Given the description of an element on the screen output the (x, y) to click on. 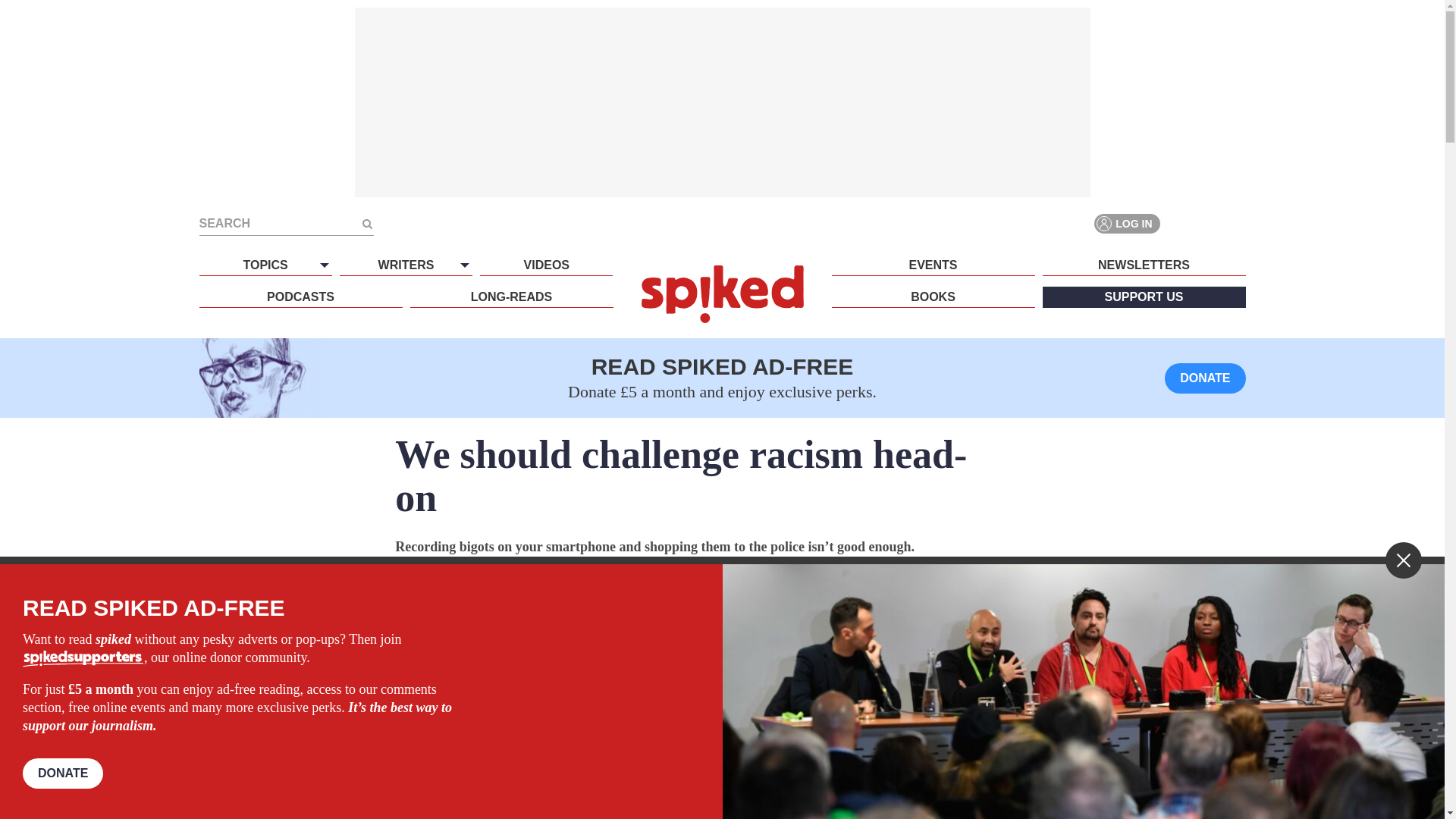
VIDEOS (546, 265)
NEWSLETTERS (1143, 265)
BOOKS (932, 296)
LONG-READS (510, 296)
YouTube (1234, 223)
EVENTS (932, 265)
PODCASTS (299, 296)
LOG IN (1126, 223)
Facebook (1180, 223)
TOPICS (264, 265)
Twitter (1207, 223)
spiked - humanity is underrated (722, 293)
SUPPORT US (1143, 296)
WRITERS (405, 265)
